Given the description of an element on the screen output the (x, y) to click on. 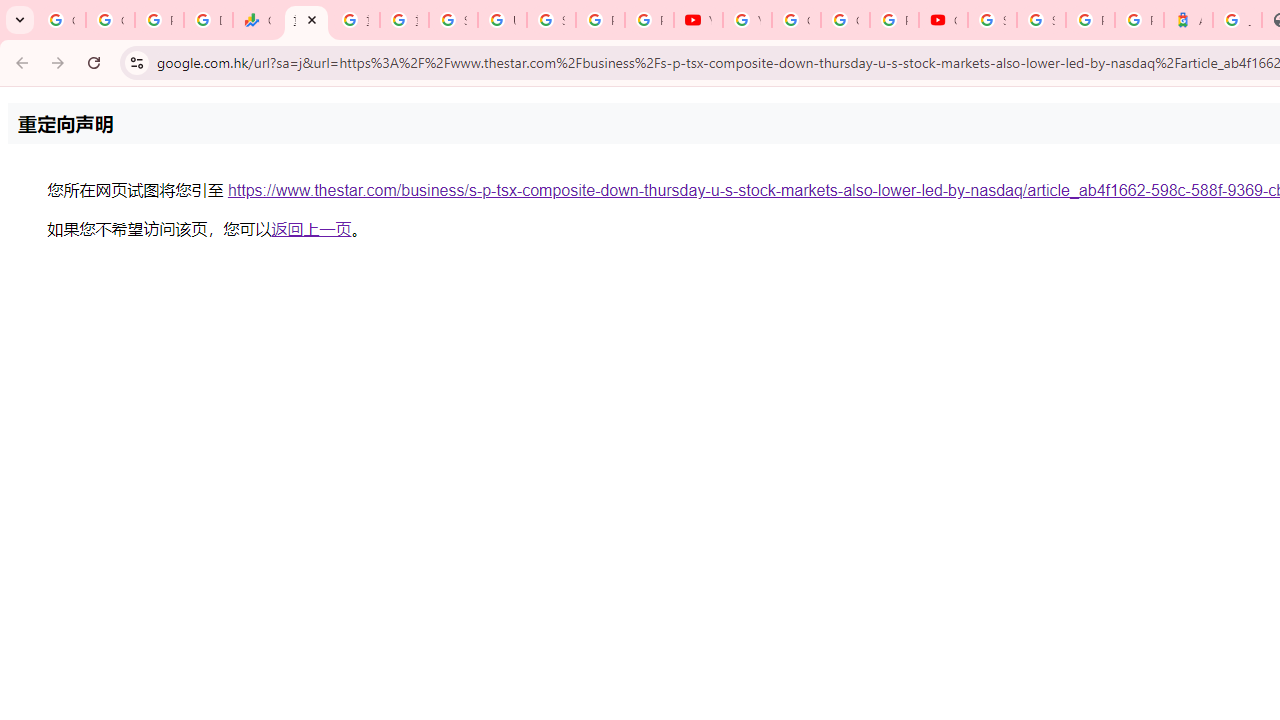
Sign in - Google Accounts (992, 20)
Sign in - Google Accounts (1041, 20)
YouTube (747, 20)
Create your Google Account (845, 20)
Google Workspace Admin Community (61, 20)
Google Account Help (795, 20)
Content Creator Programs & Opportunities - YouTube Creators (943, 20)
